Given the description of an element on the screen output the (x, y) to click on. 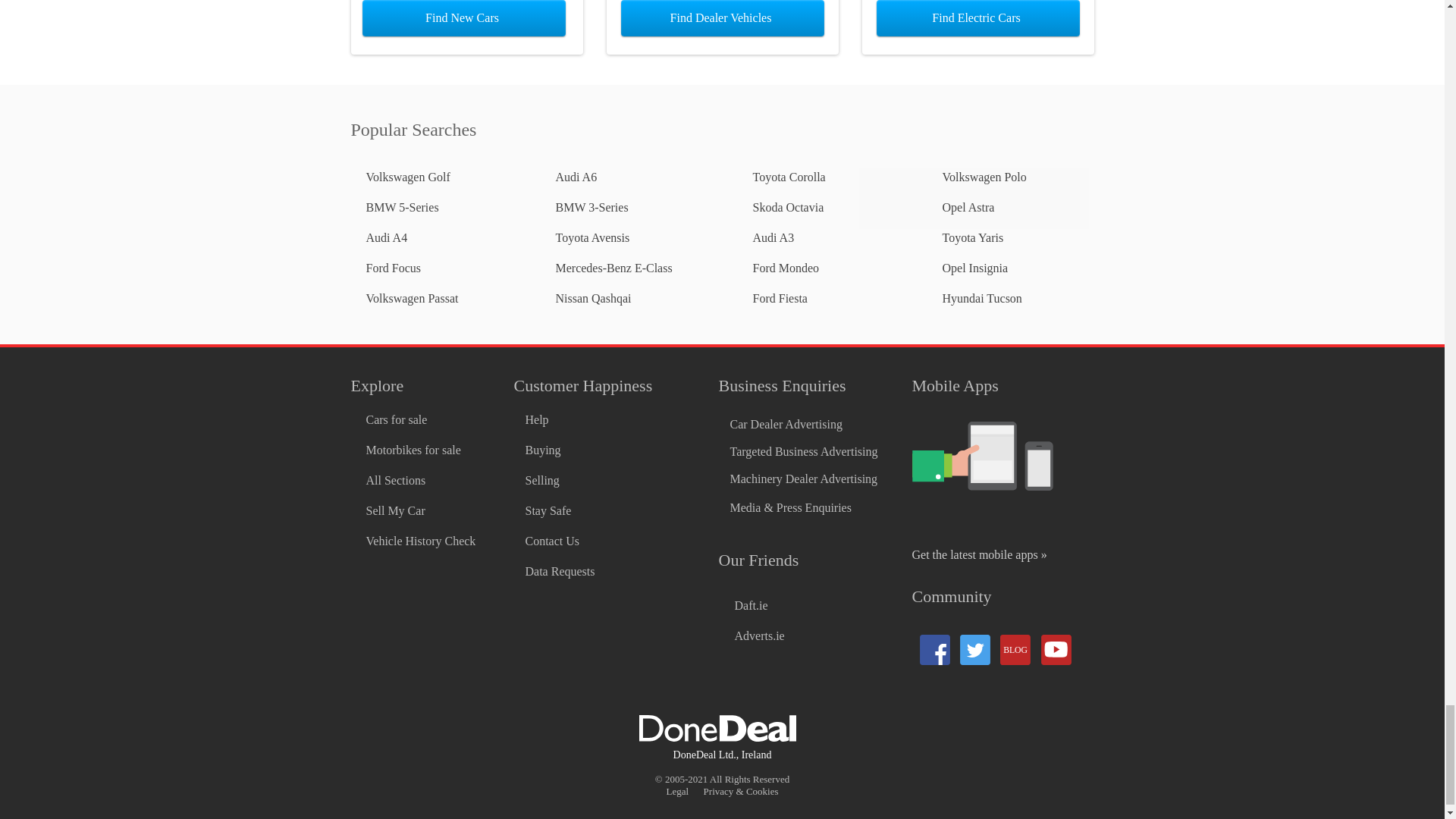
BLOG (1013, 649)
